Given the description of an element on the screen output the (x, y) to click on. 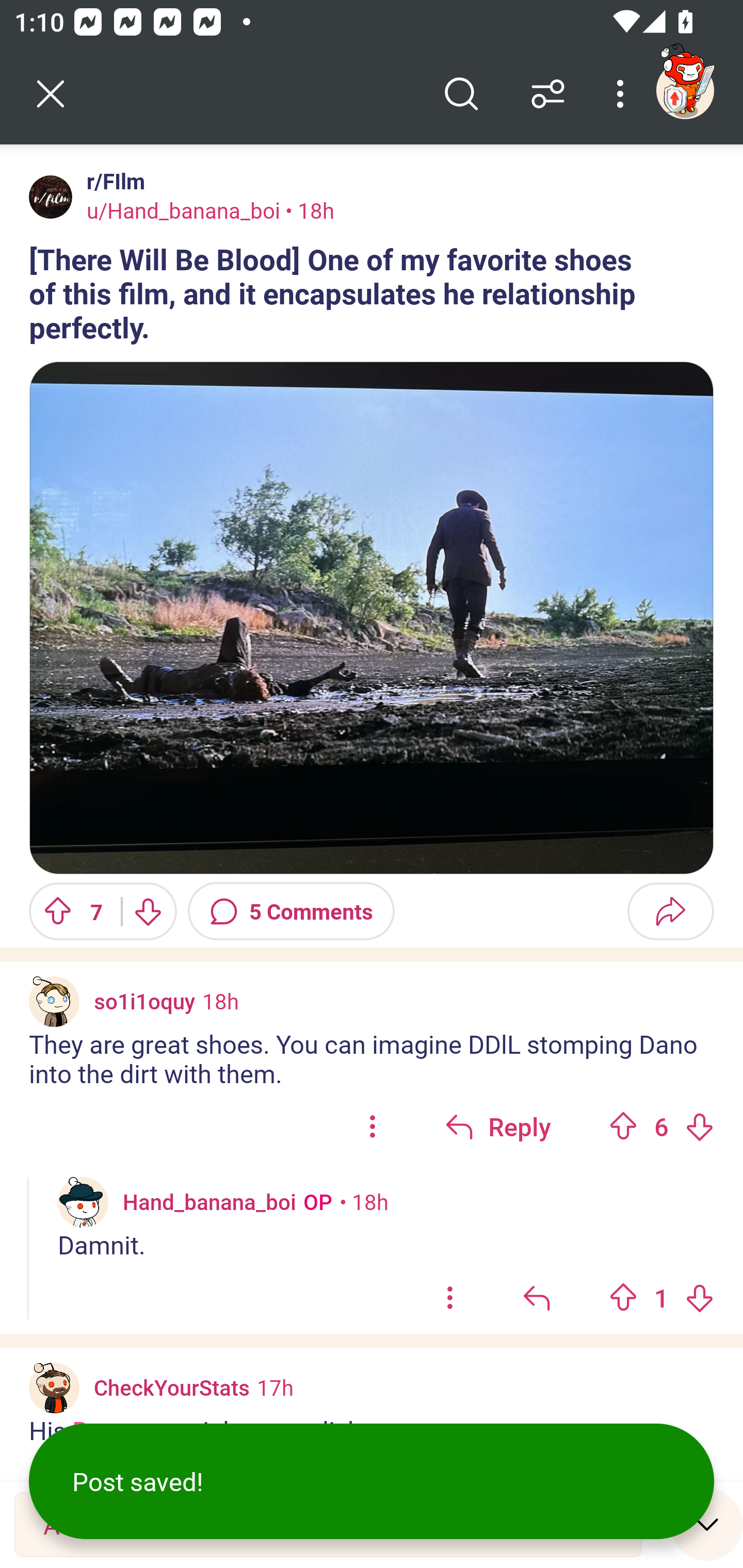
Back (50, 93)
TestAppium002 account (685, 90)
Search comments (460, 93)
Sort comments (547, 93)
More options (623, 93)
r/FIlm (112, 181)
Avatar (50, 196)
u/Hand_banana_boi (183, 210)
Image (371, 617)
Upvote 7 (67, 910)
Downvote (146, 910)
5 Comments (290, 910)
Share (670, 910)
Custom avatar (53, 1001)
18h (220, 1001)
options (372, 1125)
Reply (498, 1125)
Upvote 6 6 votes Downvote (661, 1125)
Upvote (622, 1126)
Downvote (699, 1126)
Custom avatar (82, 1202)
OP (314, 1201)
• 18h (363, 1201)
Damnit. (385, 1244)
options (449, 1298)
Upvote 1 1 vote Downvote (661, 1298)
Upvote (622, 1297)
Downvote (699, 1297)
Custom avatar (53, 1387)
17h (275, 1386)
Speed read (706, 1524)
